Given the description of an element on the screen output the (x, y) to click on. 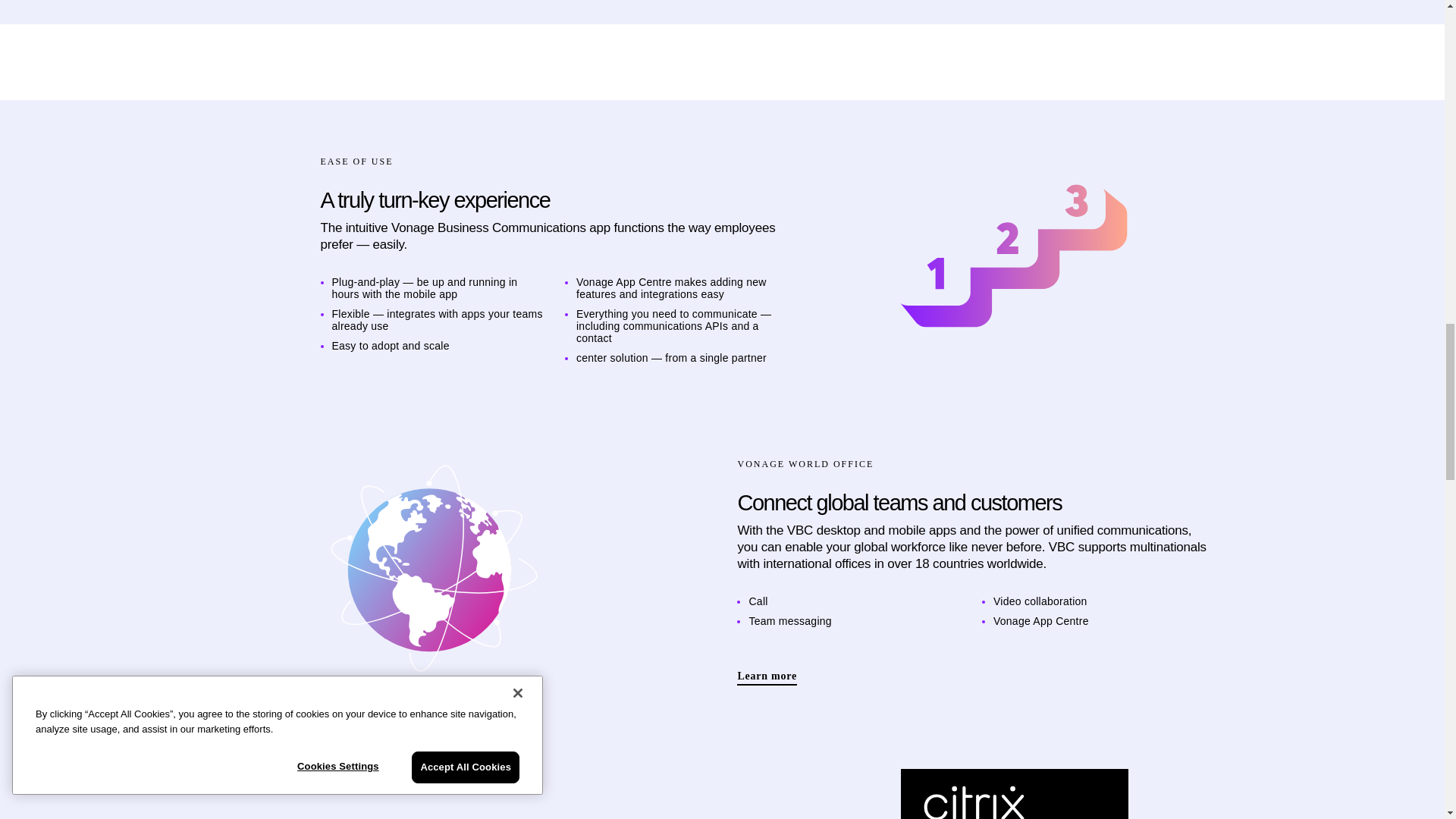
Citrix Ready logo (1014, 794)
Compliance Engine (430, 570)
Steps 123 (1014, 259)
